Given the description of an element on the screen output the (x, y) to click on. 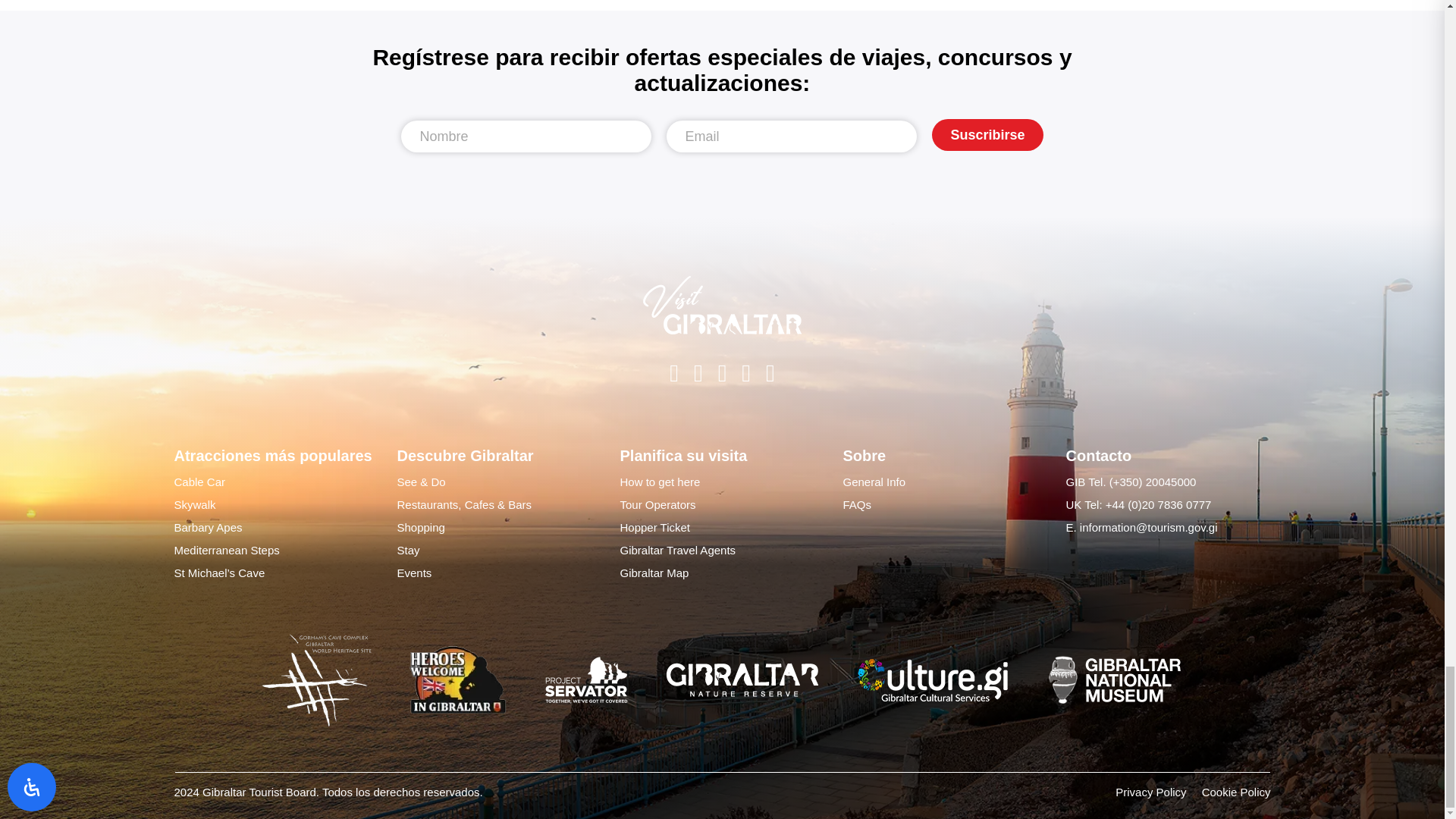
Suscribirse (986, 134)
